Given the description of an element on the screen output the (x, y) to click on. 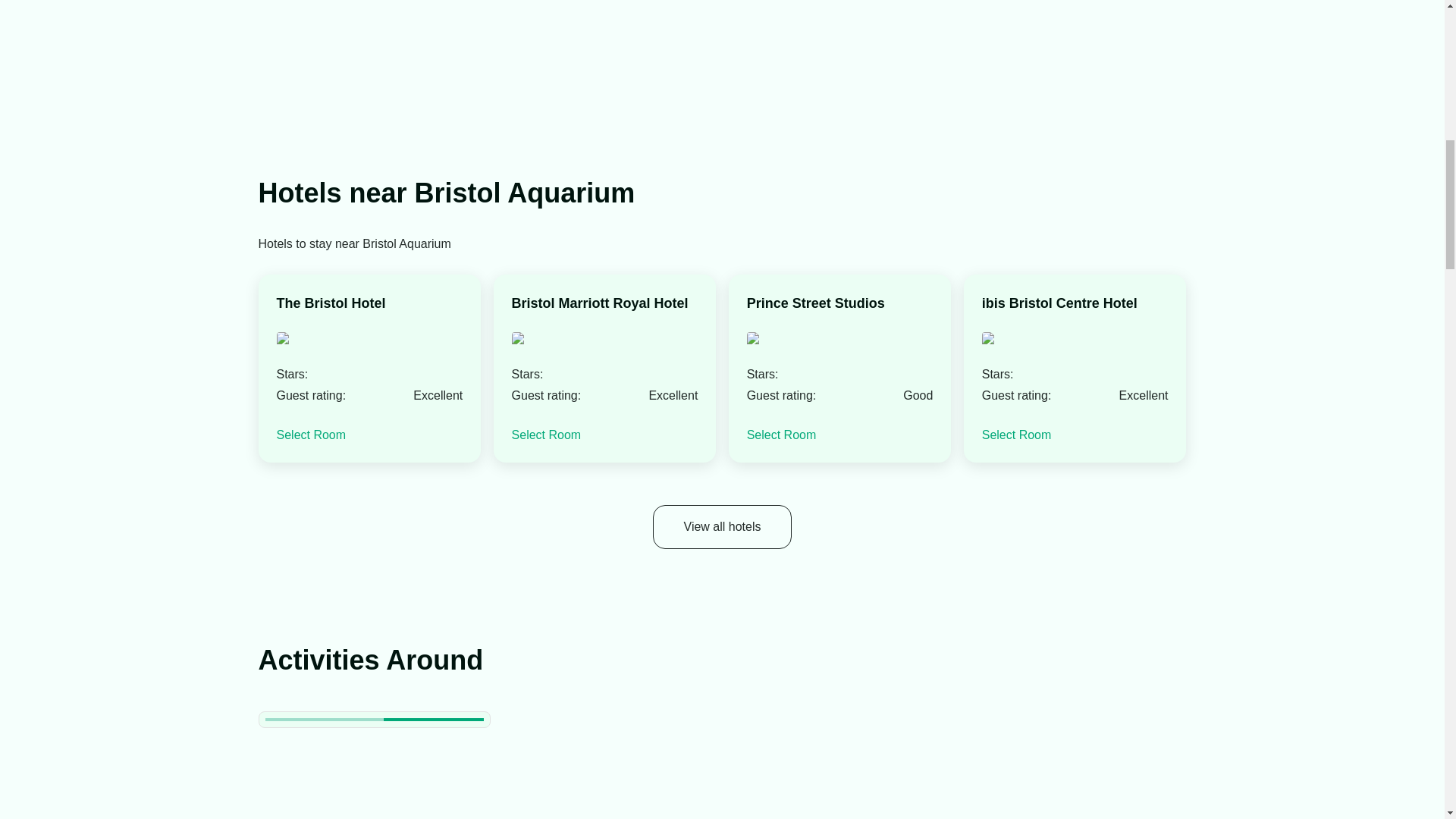
Prince Street Studios (815, 302)
Select Room (1016, 434)
Select Room (781, 434)
View all hotels (722, 526)
ibis Bristol Centre Hotel (1059, 302)
The Bristol Hotel (330, 302)
Select Room (311, 434)
Bristol Marriott Royal Hotel (600, 302)
Select Room (546, 434)
